Given the description of an element on the screen output the (x, y) to click on. 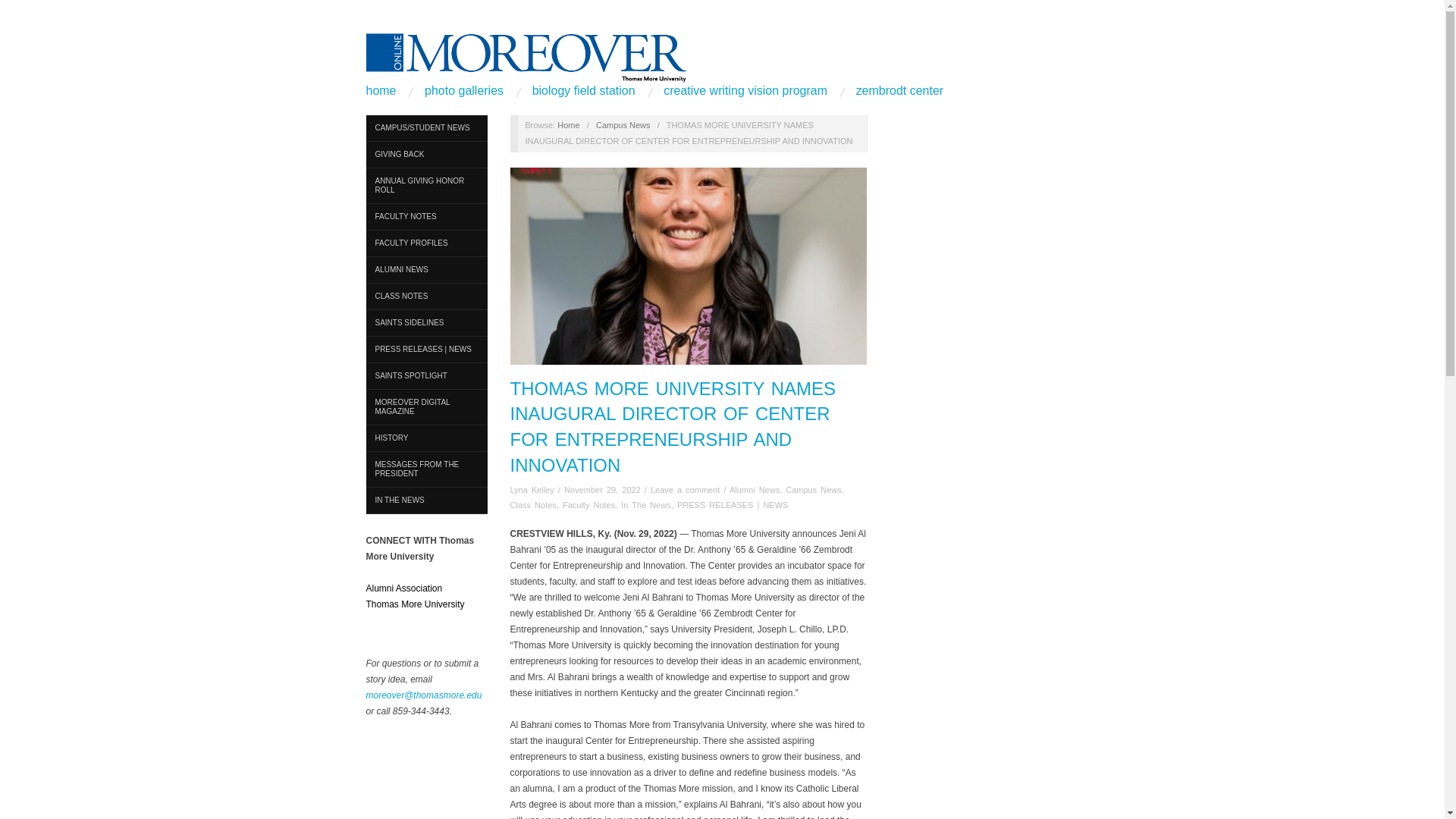
creative writing vision program (745, 91)
Faculty Notes (588, 504)
biology field station (583, 91)
November 29, 2022 (602, 489)
SAINTS SIDELINES (425, 323)
MOREOVER (525, 53)
Posts by Lyna Kelley (532, 489)
Campus News (622, 124)
FACULTY PROFILES (425, 243)
IN THE NEWS (425, 500)
HISTORY (425, 438)
MOREOVER (568, 124)
ANNUAL GIVING HONOR ROLL (425, 185)
Campus News (622, 124)
